Given the description of an element on the screen output the (x, y) to click on. 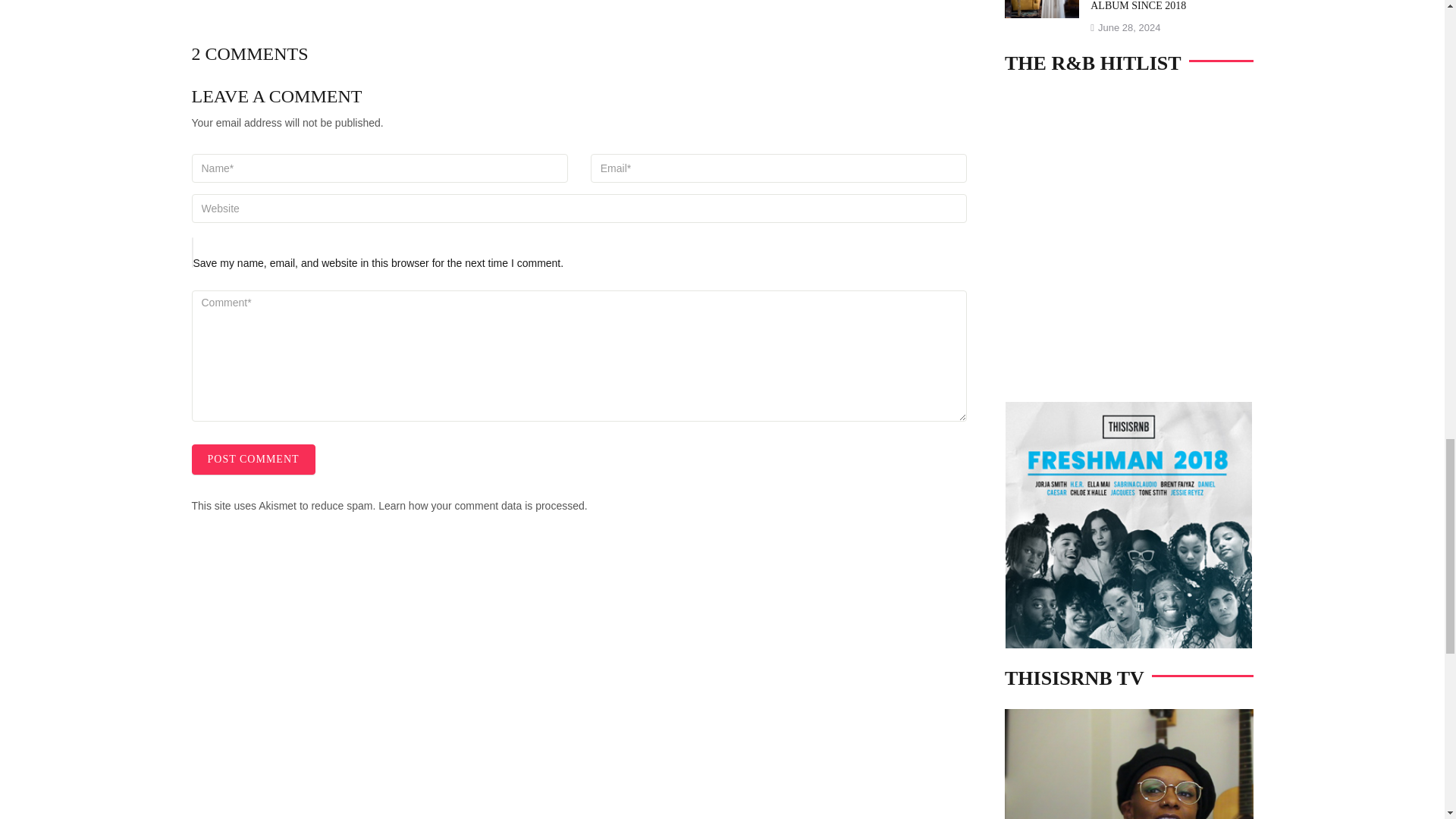
Post Comment (252, 459)
